Given the description of an element on the screen output the (x, y) to click on. 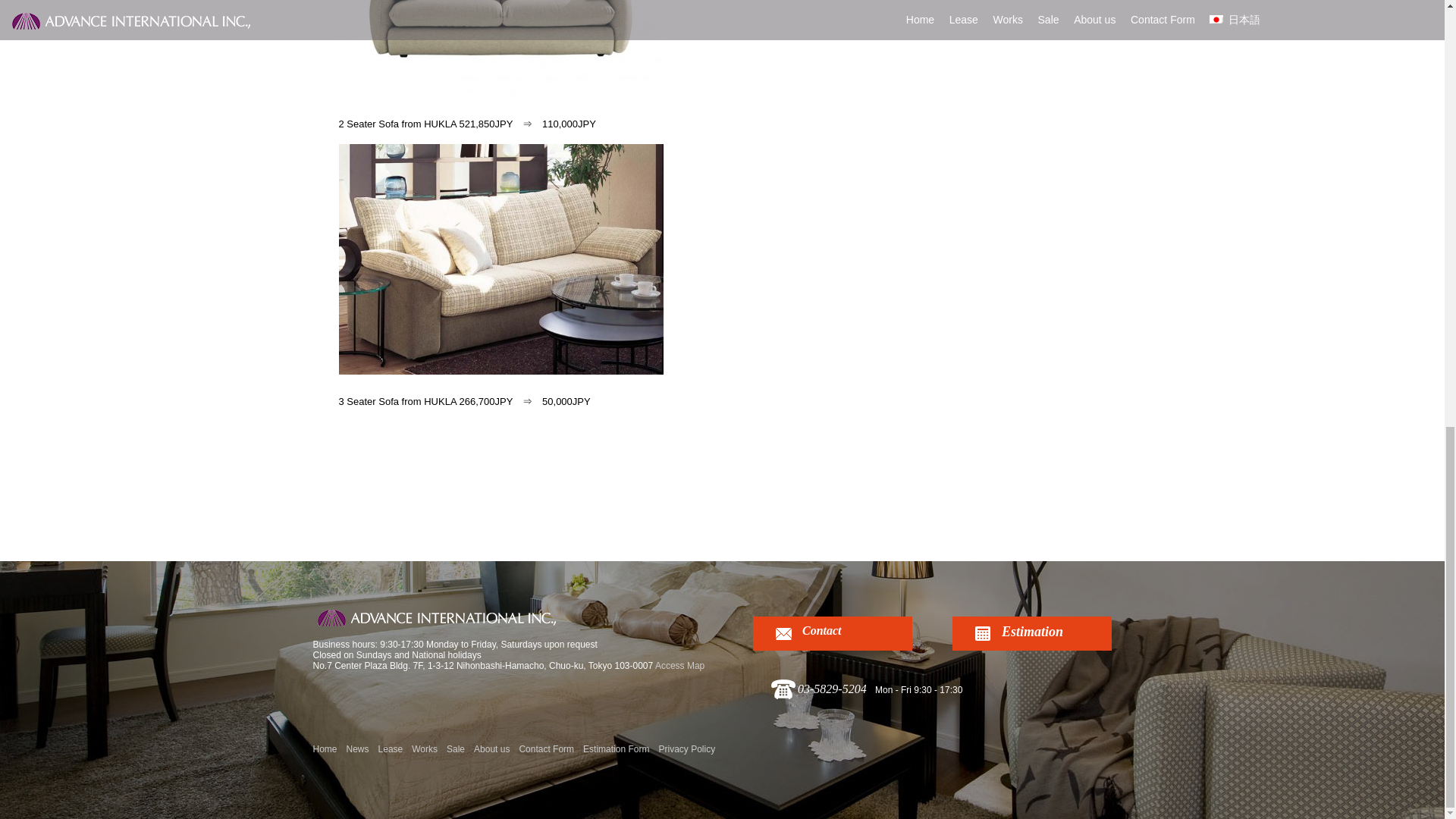
IMAGE3 (499, 259)
IMAGE2 (499, 48)
